Given the description of an element on the screen output the (x, y) to click on. 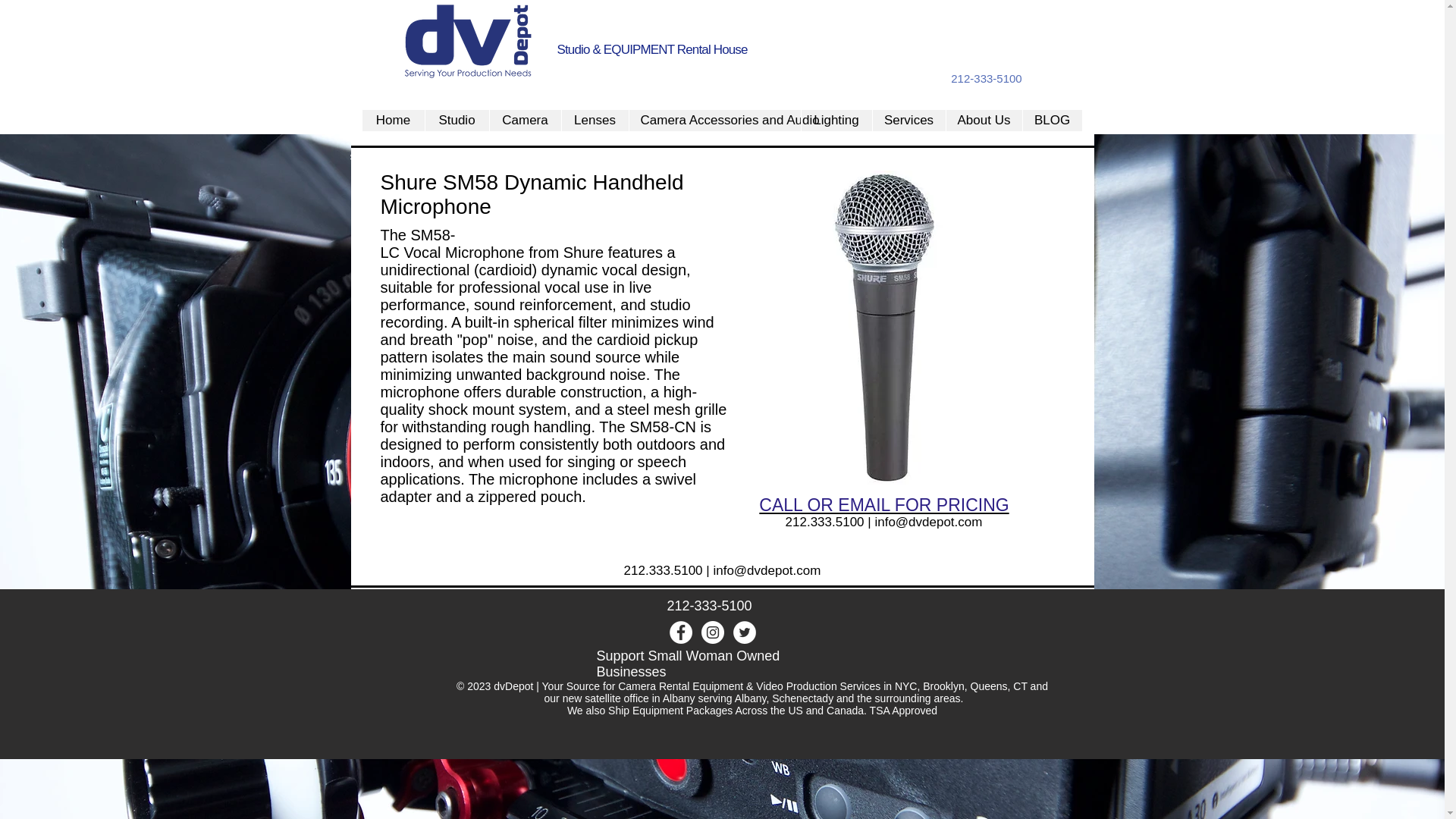
Code to install Google Analytics 4 (694, 25)
sm58.jpg (884, 327)
212-333-5100 (985, 77)
Lenses (594, 120)
Home (393, 120)
